Given the description of an element on the screen output the (x, y) to click on. 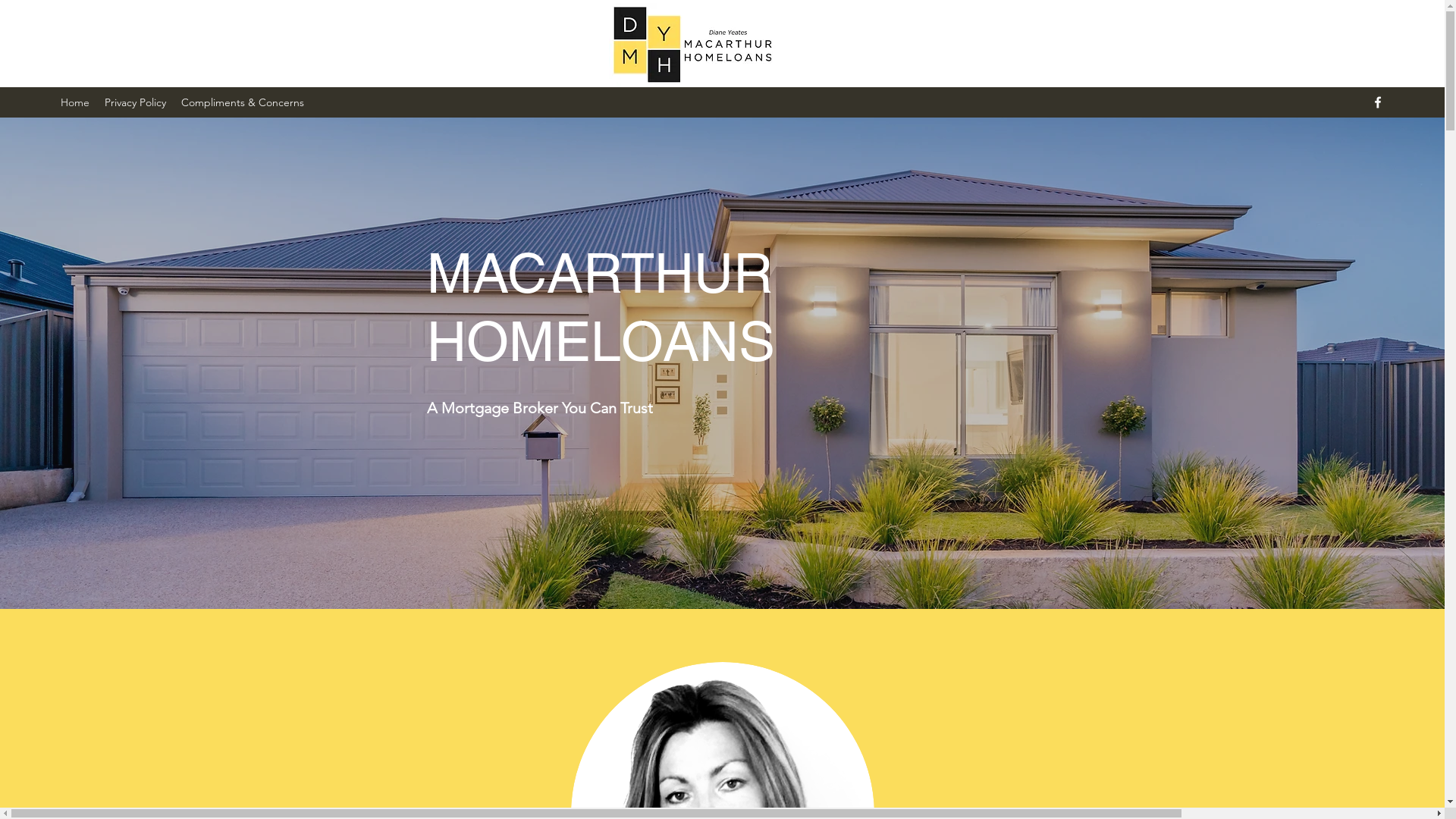
Compliments & Concerns Element type: text (242, 102)
Privacy Policy Element type: text (135, 102)
Home Element type: text (75, 102)
